Given the description of an element on the screen output the (x, y) to click on. 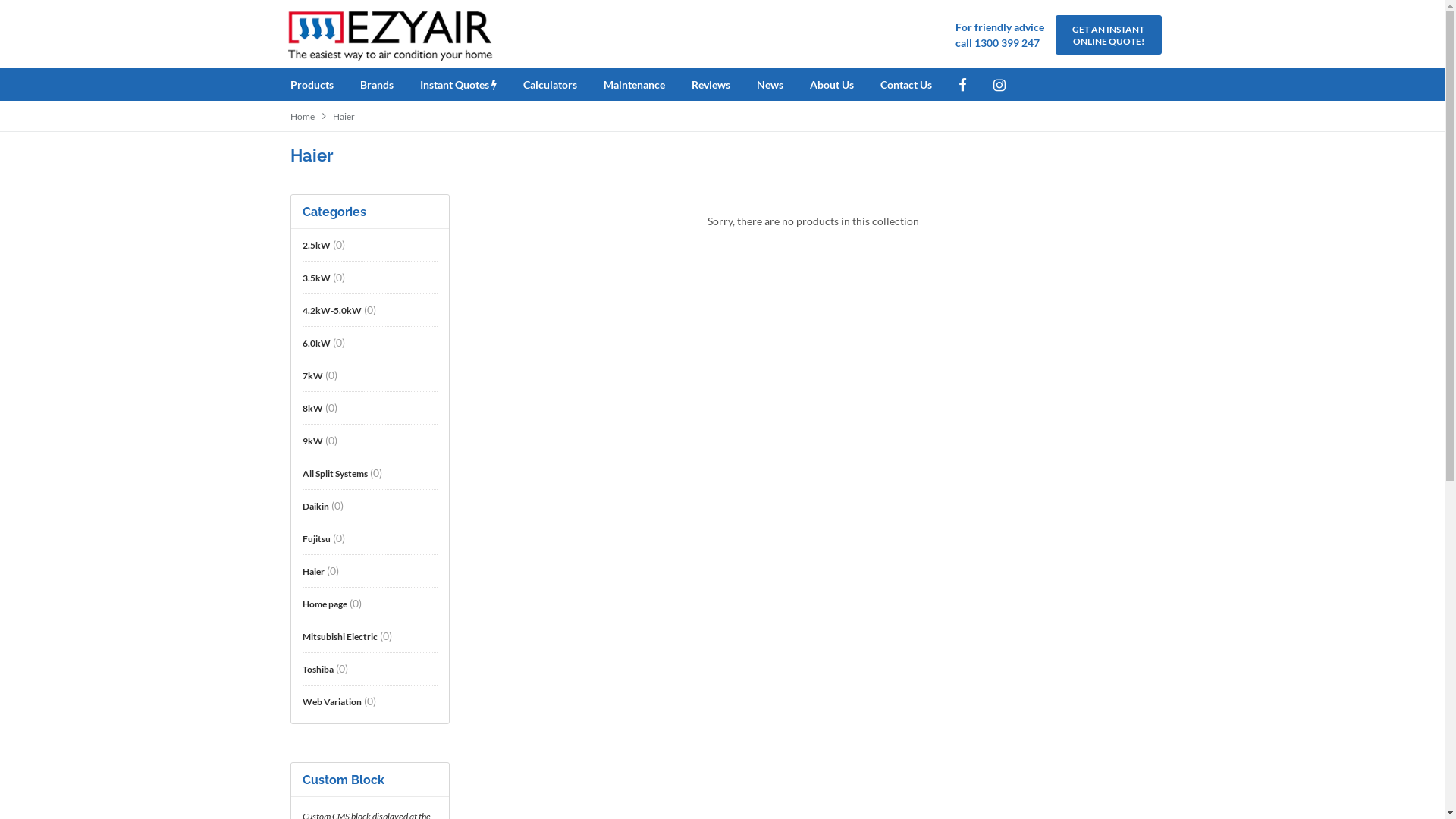
7kW Element type: text (311, 374)
Instant Quotes Element type: text (470, 84)
Haier Element type: text (343, 116)
About Us Element type: text (843, 84)
Contact Us Element type: text (917, 84)
Mitsubishi Electric Element type: text (338, 635)
4.2kW-5.0kW Element type: text (330, 309)
Reviews Element type: text (722, 84)
News Element type: text (781, 84)
All Split Systems Element type: text (334, 472)
Home Element type: text (301, 116)
Brands Element type: text (388, 84)
Web Variation Element type: text (330, 701)
9kW Element type: text (311, 440)
Products Element type: text (323, 84)
Daikin Element type: text (314, 505)
GET AN INSTANT
ONLINE QUOTE! Element type: text (1108, 34)
Home page Element type: text (323, 603)
Maintenance Element type: text (646, 84)
For friendly advice
call 1300 399 247 Element type: text (999, 34)
Toshiba Element type: text (316, 668)
Haier Element type: text (312, 570)
2.5kW Element type: text (315, 244)
Fujitsu Element type: text (315, 538)
Logo Element type: hover (390, 34)
8kW Element type: text (311, 407)
Calculators Element type: text (562, 84)
6.0kW Element type: text (315, 342)
3.5kW Element type: text (315, 277)
